Given the description of an element on the screen output the (x, y) to click on. 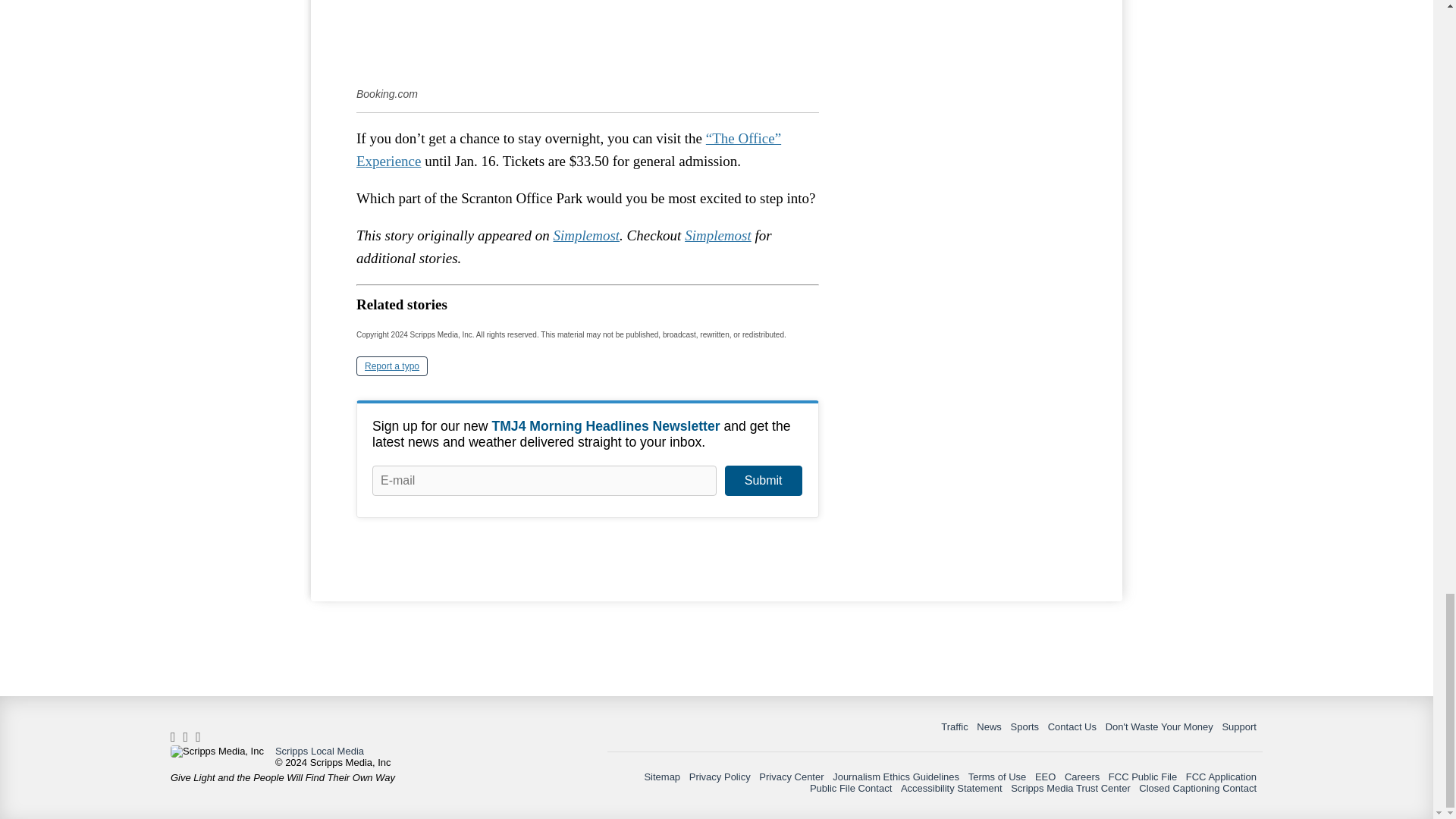
Submit (763, 481)
